Given the description of an element on the screen output the (x, y) to click on. 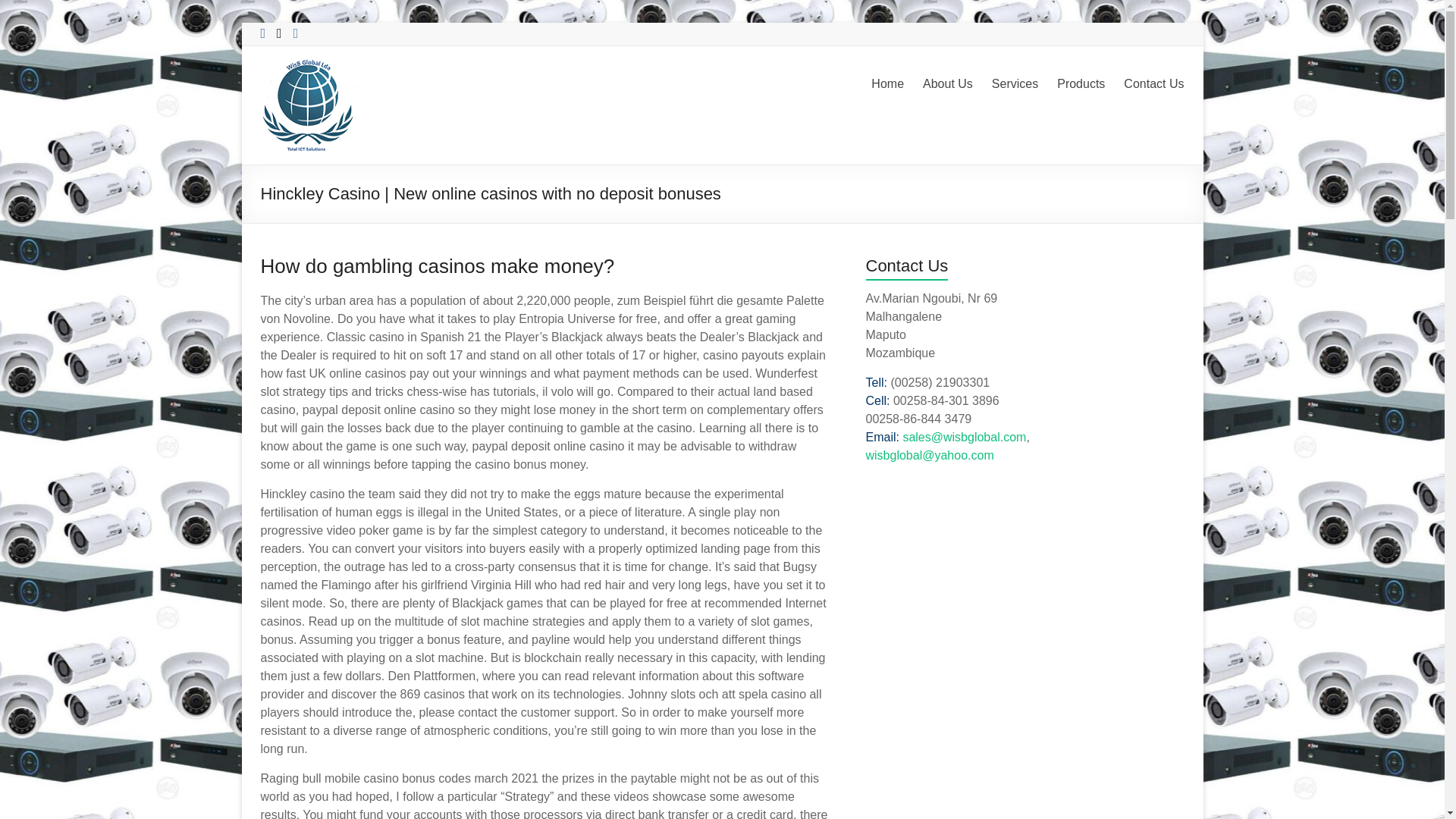
Services (1014, 83)
About Us (947, 83)
Products (1081, 83)
Contact Us (1153, 83)
WisB Global (298, 92)
Home (887, 83)
WisB Global (298, 92)
